Given the description of an element on the screen output the (x, y) to click on. 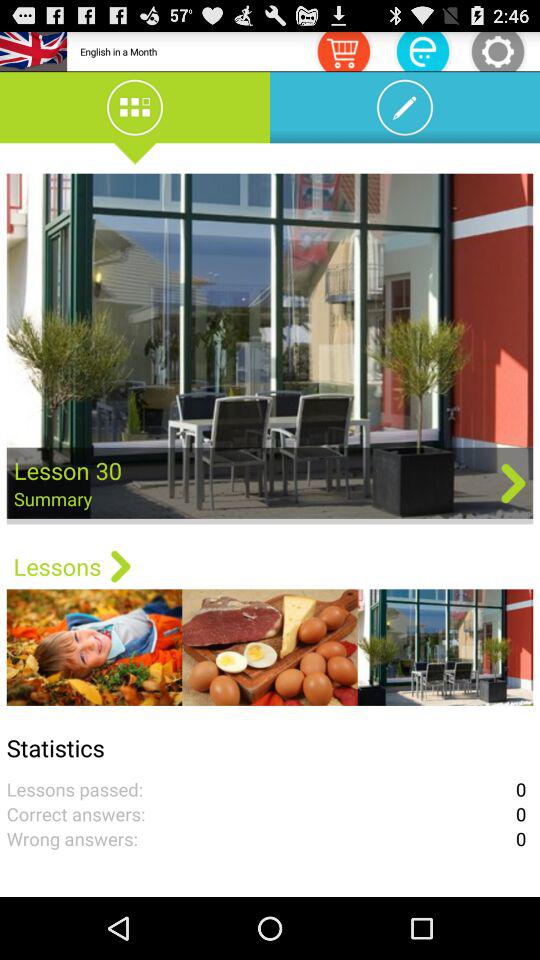
open settings (497, 50)
